Given the description of an element on the screen output the (x, y) to click on. 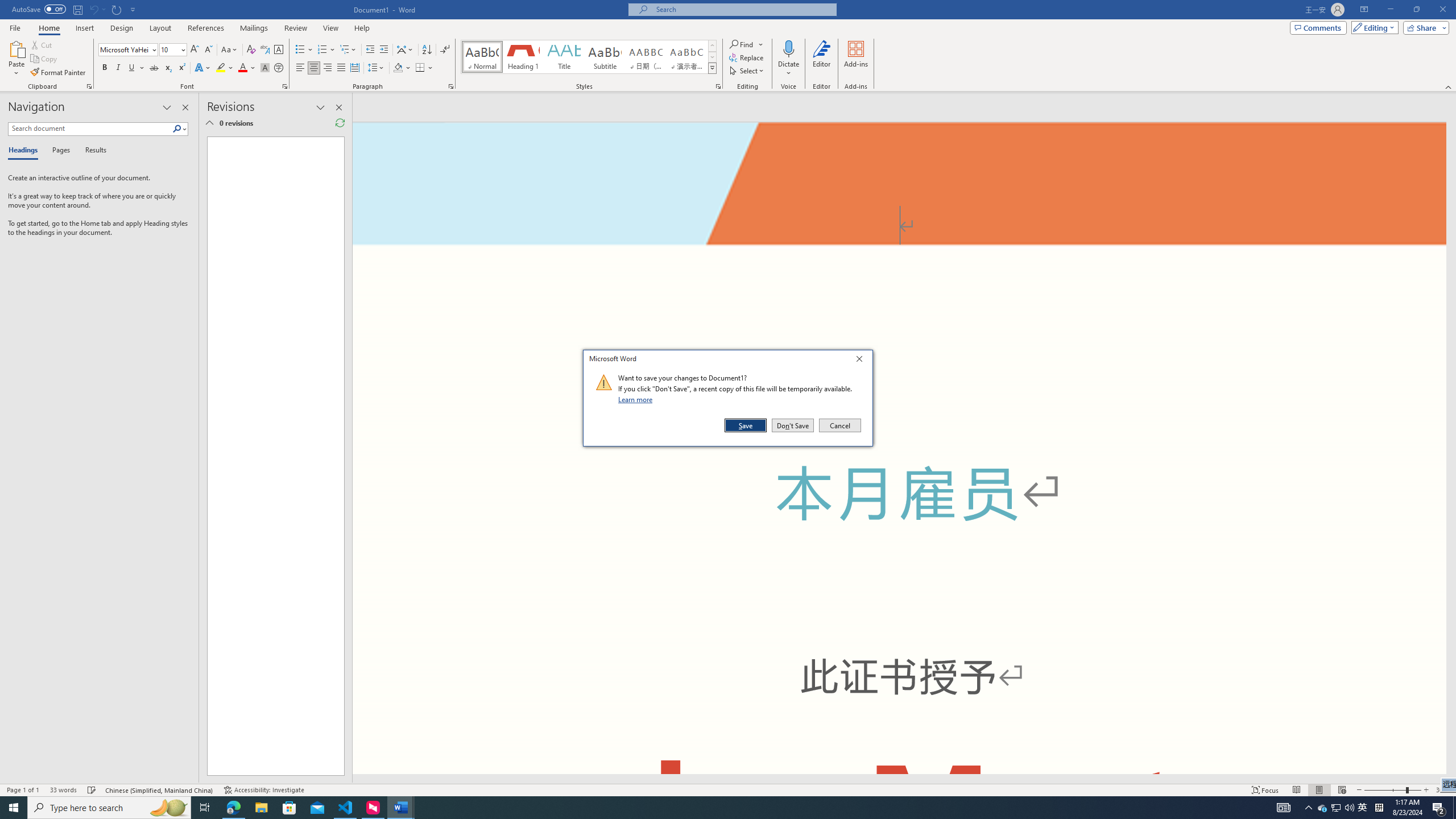
Font Color Red (241, 67)
Accessibility Checker Accessibility: Investigate (263, 790)
Phonetic Guide... (264, 49)
Language Chinese (Simplified, Mainland China) (159, 790)
Spelling and Grammar Check Checking (91, 790)
Replace... (747, 56)
Align Left (300, 67)
Enclose Characters... (278, 67)
